Given the description of an element on the screen output the (x, y) to click on. 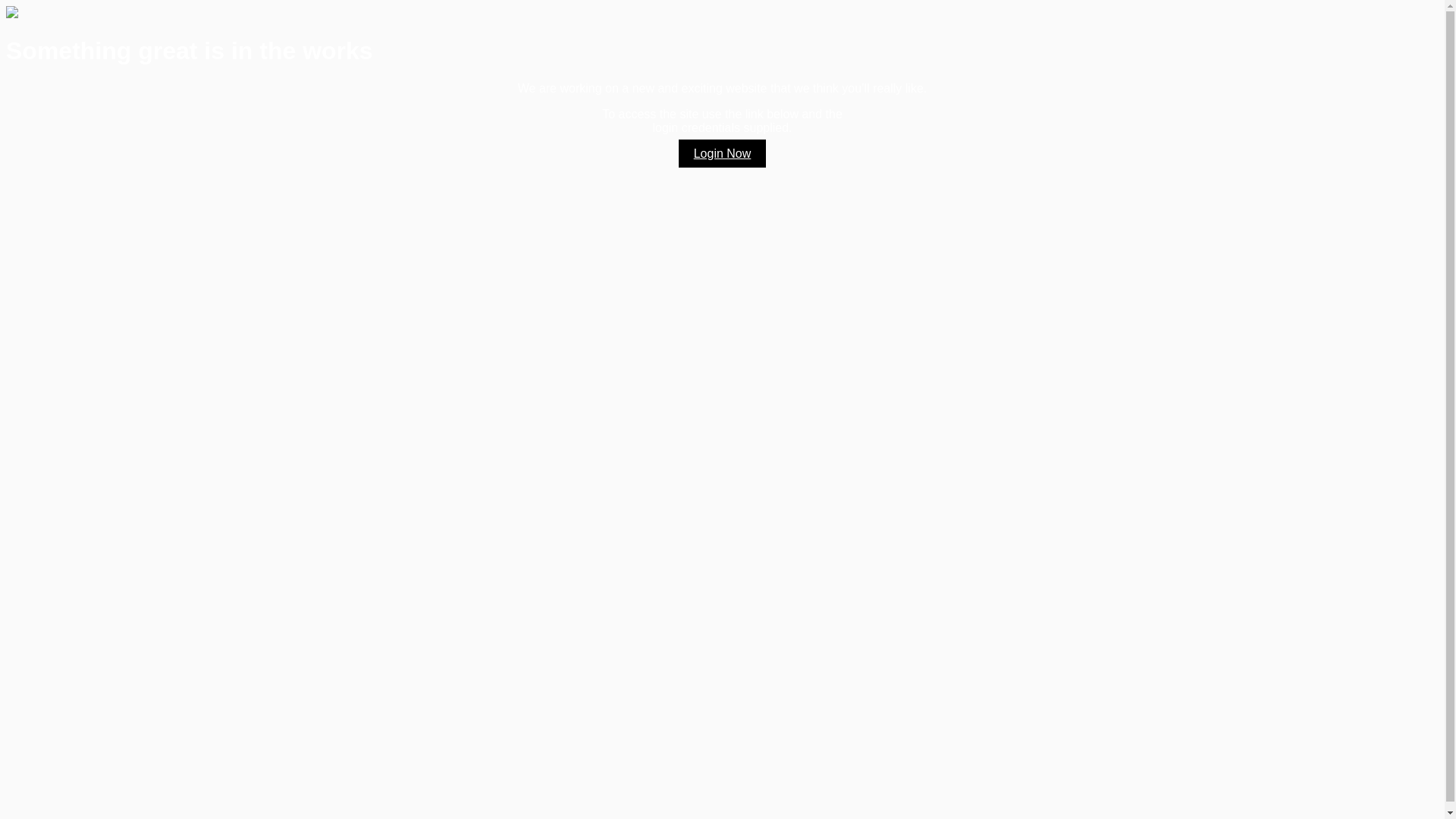
Login Now Element type: text (722, 153)
